Given the description of an element on the screen output the (x, y) to click on. 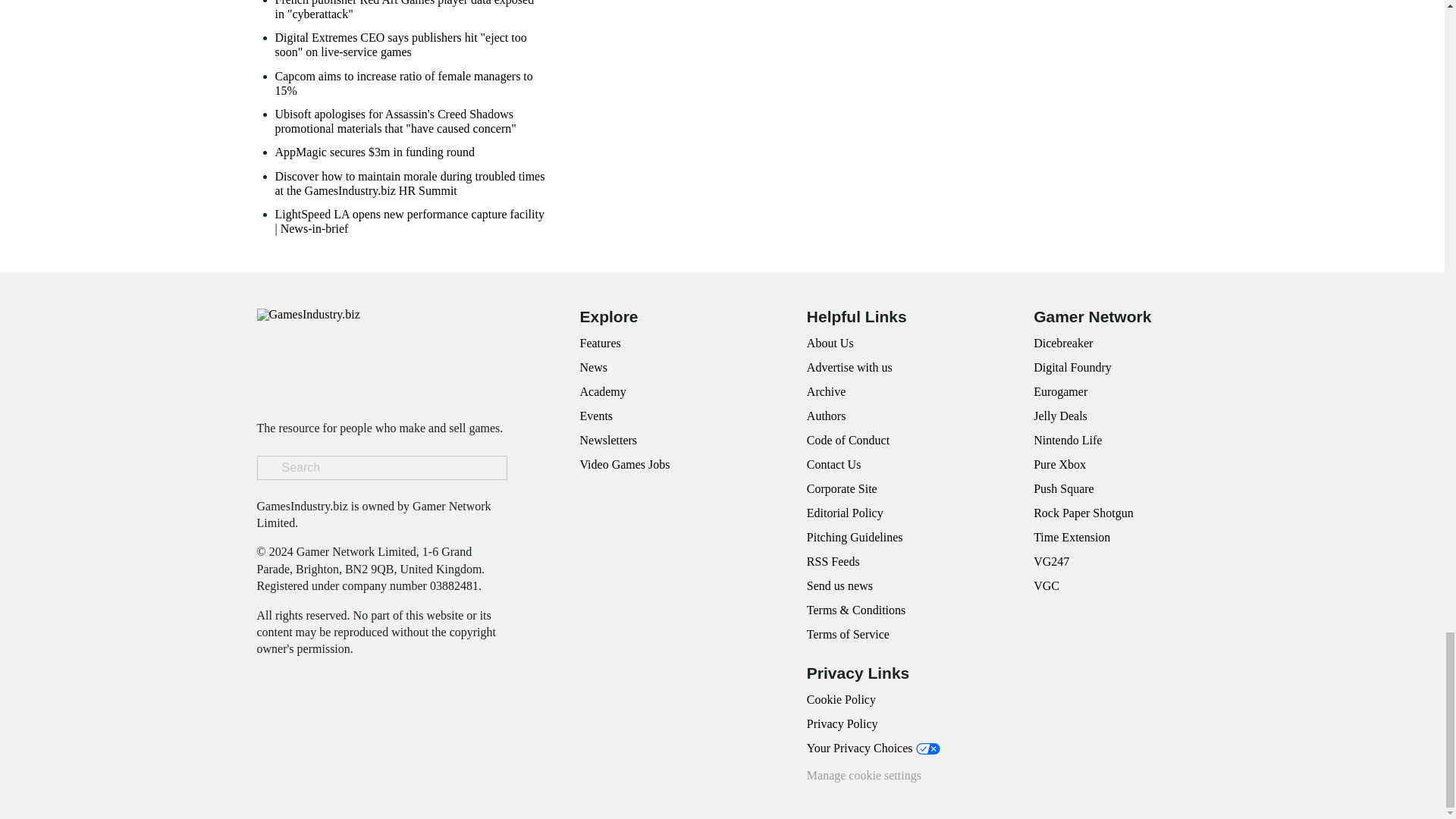
Advertise with us (849, 367)
Academy (602, 391)
Features (599, 342)
Events (595, 415)
Video Games Jobs (624, 463)
Archive (825, 391)
About Us (829, 342)
Newsletters (608, 440)
News (593, 367)
